Given the description of an element on the screen output the (x, y) to click on. 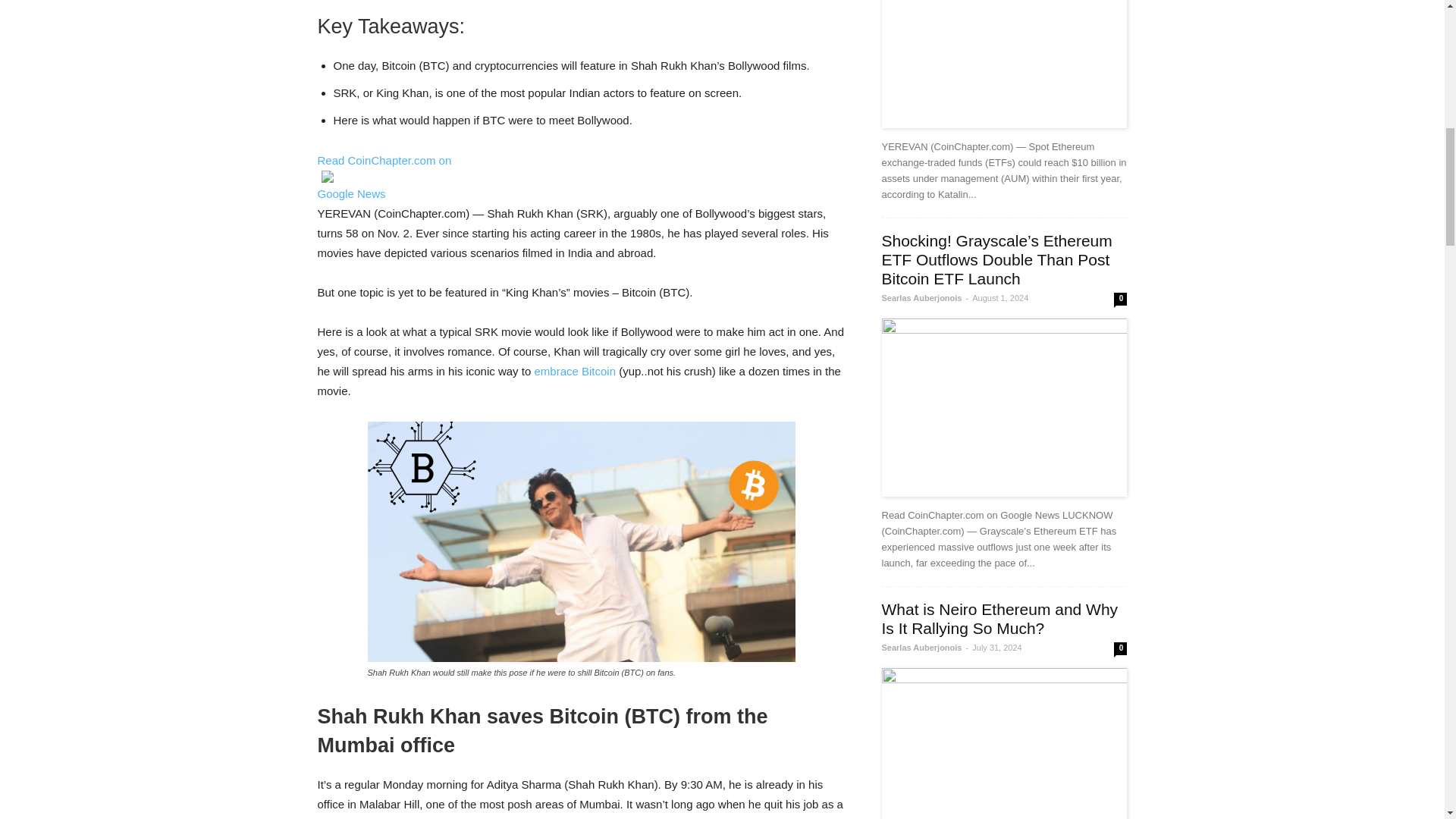
embrace Bitcoin (574, 370)
